Given the description of an element on the screen output the (x, y) to click on. 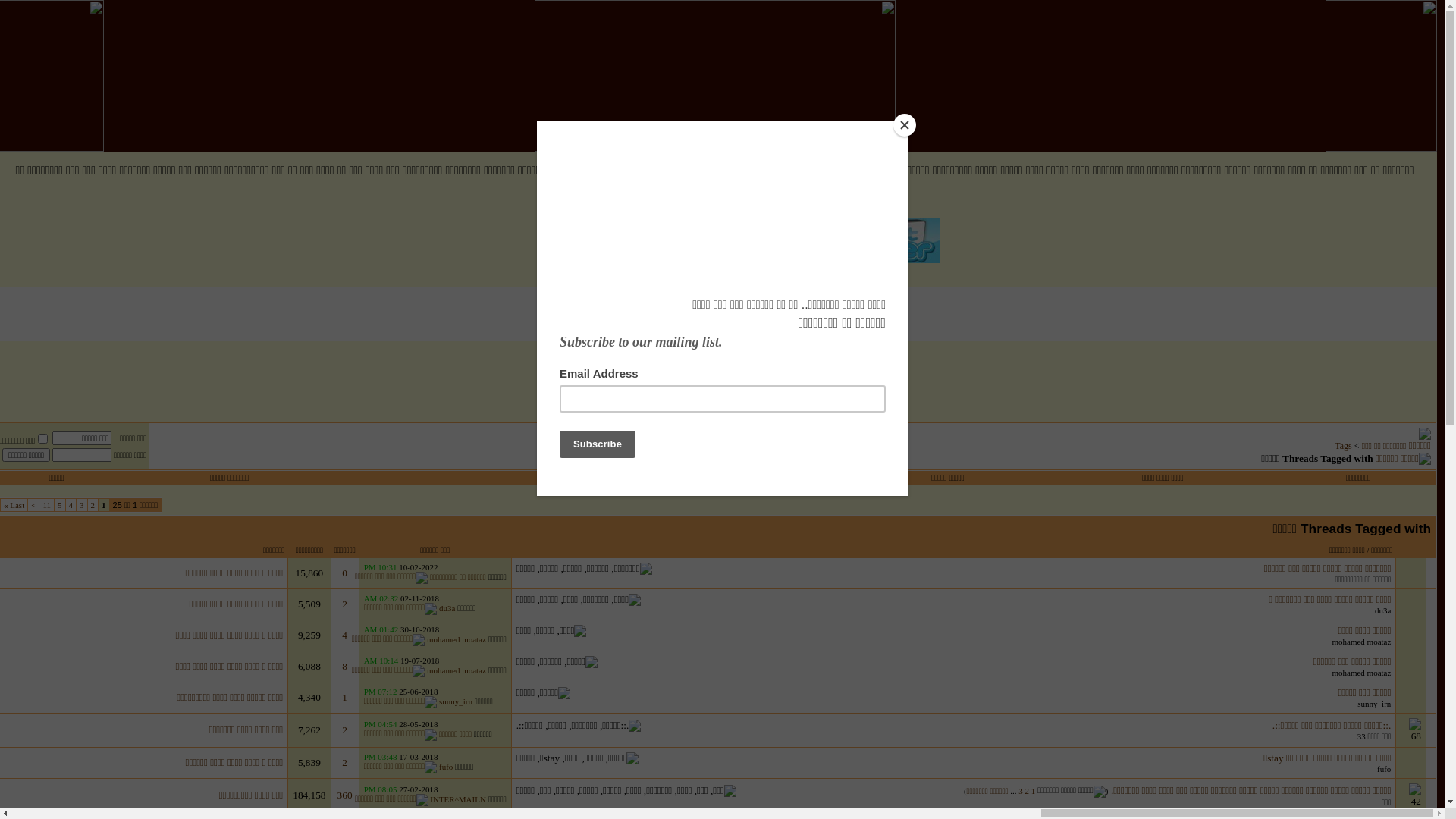
Advertisement Element type: hover (714, 375)
11 Element type: text (46, 504)
3 Element type: text (1020, 790)
3 Element type: text (81, 504)
4 Element type: text (71, 504)
5 Element type: text (59, 504)
0 Element type: text (344, 572)
360 Element type: text (344, 794)
sunny_irn Element type: text (1373, 703)
42 Element type: hover (1410, 795)
mohamed moataz Element type: text (456, 669)
1 Element type: text (1033, 790)
1 Element type: text (344, 696)
2 Element type: text (344, 762)
INTER^MAILN Element type: text (457, 798)
mohamed moataz Element type: text (1360, 641)
4 Element type: text (344, 634)
> Element type: text (33, 504)
2 Element type: text (1027, 790)
mohamed moataz Element type: text (1360, 672)
2 Element type: text (344, 603)
8 Element type: text (344, 665)
sunny_irn Element type: text (455, 701)
du3a Element type: text (1382, 610)
2 Element type: text (93, 504)
2 Element type: text (344, 729)
mohamed moataz Element type: text (456, 638)
fufo Element type: text (1383, 768)
Tags Element type: text (1343, 445)
fufo Element type: text (445, 766)
68 Element type: hover (1410, 730)
du3a Element type: text (447, 607)
